Given the description of an element on the screen output the (x, y) to click on. 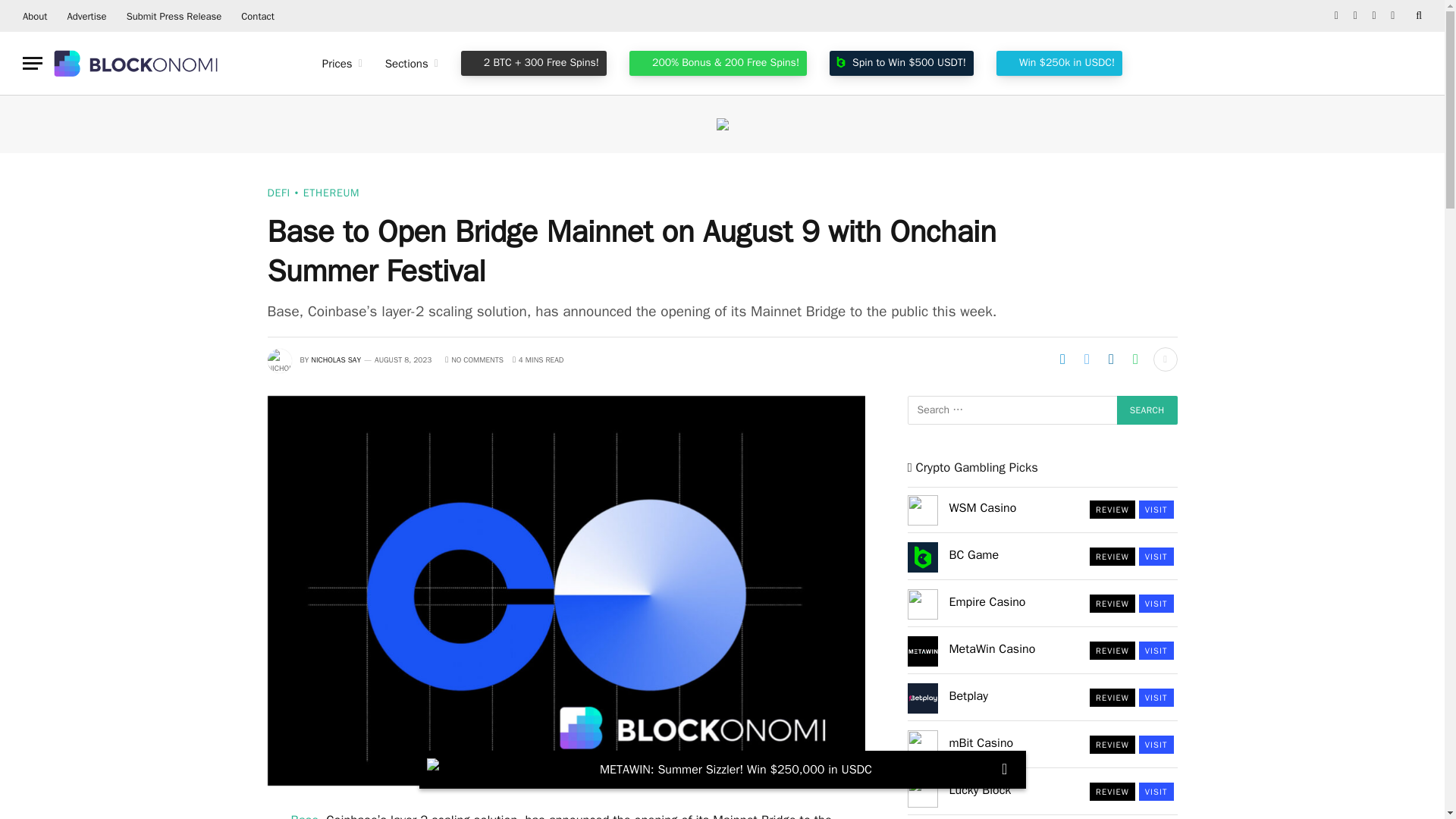
Sections (411, 63)
Prices (342, 63)
Search (1146, 410)
Advertise (86, 15)
Contact (257, 15)
Blockonomi (137, 62)
Share on Telegram (1062, 359)
Share on WhatsApp (1135, 359)
Search (1146, 410)
